Given the description of an element on the screen output the (x, y) to click on. 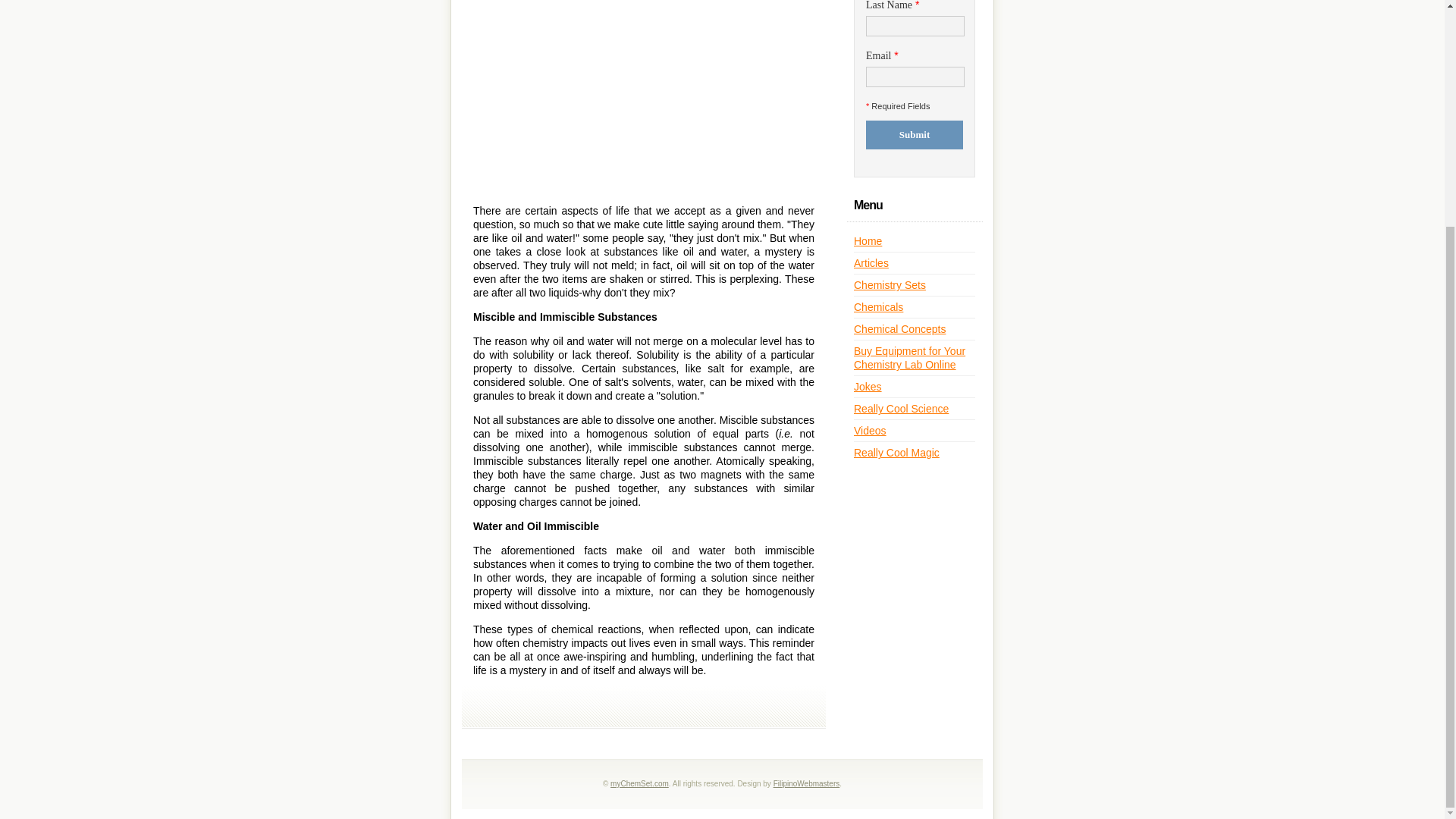
Really Cool Magic (896, 452)
Home (867, 241)
myChemSet.com (639, 783)
FilipinoWebmasters (806, 783)
Buy Equipment for Your Chemistry Lab Online (909, 357)
Chemical Concepts (898, 328)
Jokes (867, 386)
Really Cool Science (901, 408)
Chemistry Sets (889, 285)
Videos (869, 430)
